Given the description of an element on the screen output the (x, y) to click on. 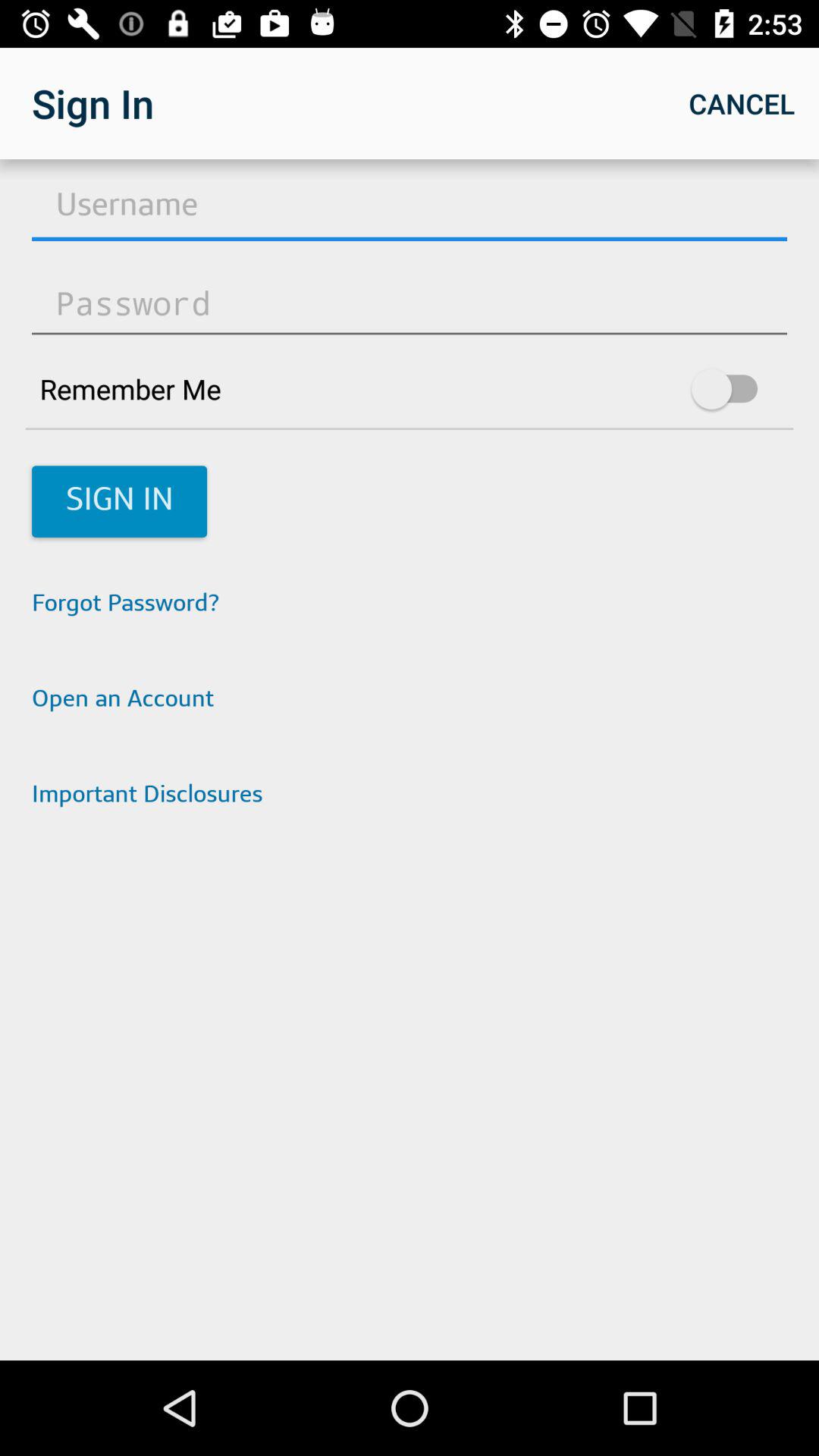
choose the icon below the forgot password? app (409, 700)
